Given the description of an element on the screen output the (x, y) to click on. 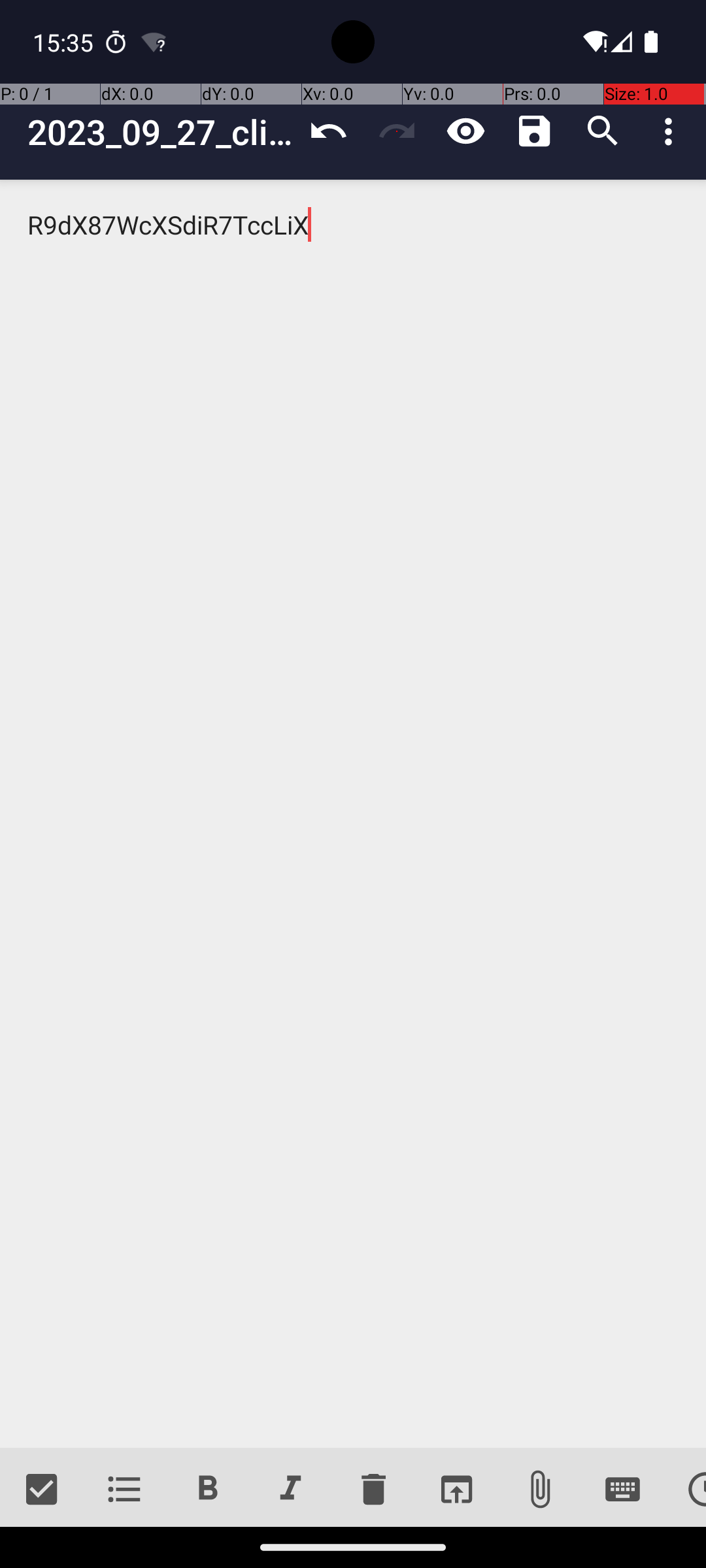
2023_09_27_client_meetings_schedule Element type: android.widget.TextView (160, 131)
Undo Element type: android.widget.TextView (328, 131)
Redo Element type: android.widget.TextView (396, 131)
View mode Element type: android.widget.TextView (465, 131)
R9dX87WcXSdiR7TccLiX Element type: android.widget.EditText (353, 813)
Check list Element type: android.widget.ImageView (41, 1488)
Unordered list Element type: android.widget.ImageView (124, 1488)
Bold Element type: android.widget.ImageView (207, 1488)
Italic Element type: android.widget.ImageView (290, 1488)
Delete lines Element type: android.widget.ImageView (373, 1488)
Open link Element type: android.widget.ImageView (456, 1488)
Attach Element type: android.widget.ImageView (539, 1488)
Special Key Element type: android.widget.ImageView (622, 1488)
Date and time Element type: android.widget.ImageView (685, 1488)
Android System notification: AndroidWifi has limited connectivity Element type: android.widget.ImageView (153, 41)
Wifi signal full.,No internet Element type: android.widget.FrameLayout (593, 41)
